Given the description of an element on the screen output the (x, y) to click on. 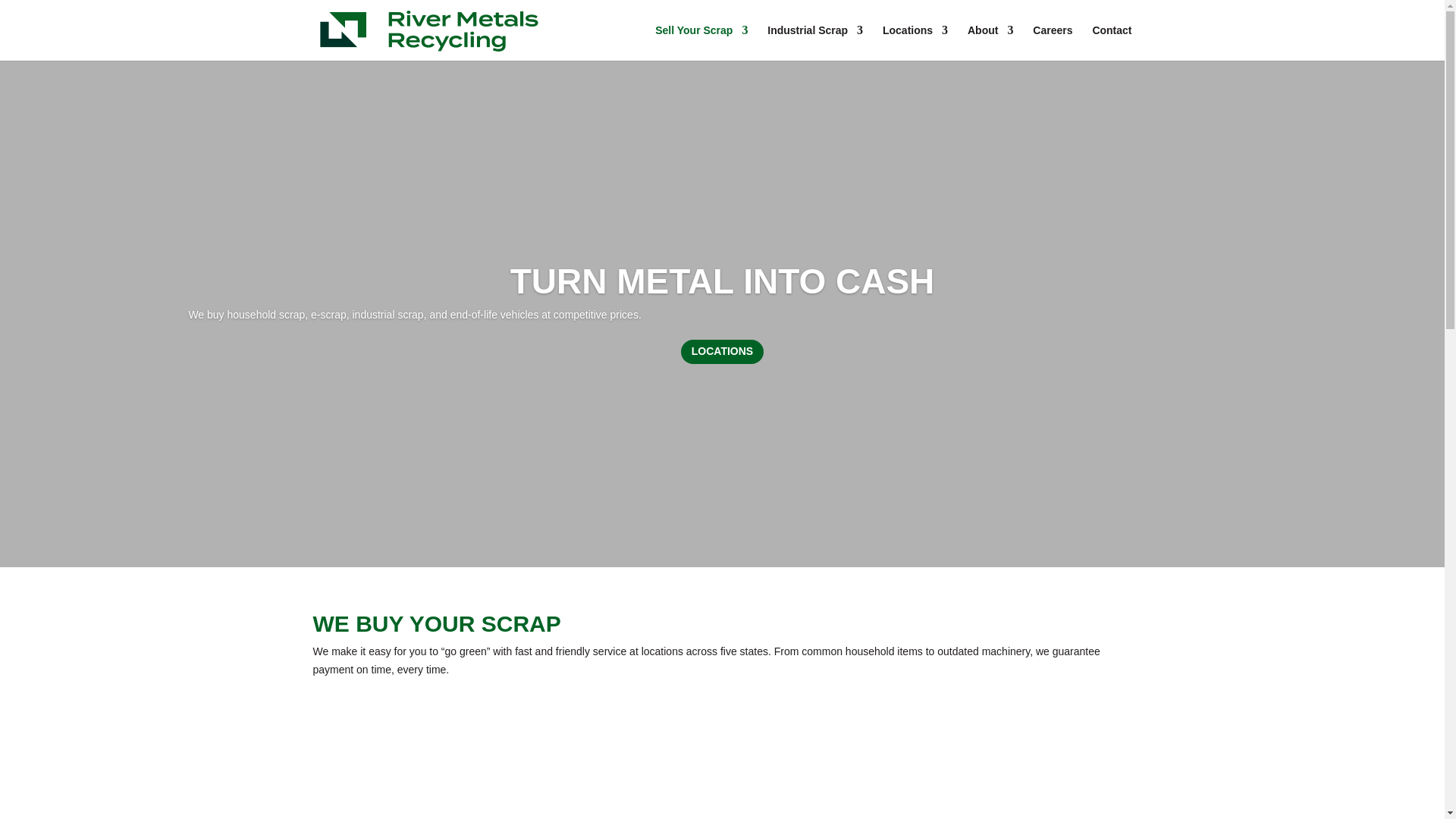
Sell Your Scrap (701, 42)
About (990, 42)
Industrial Scrap (815, 42)
Locations (914, 42)
